Given the description of an element on the screen output the (x, y) to click on. 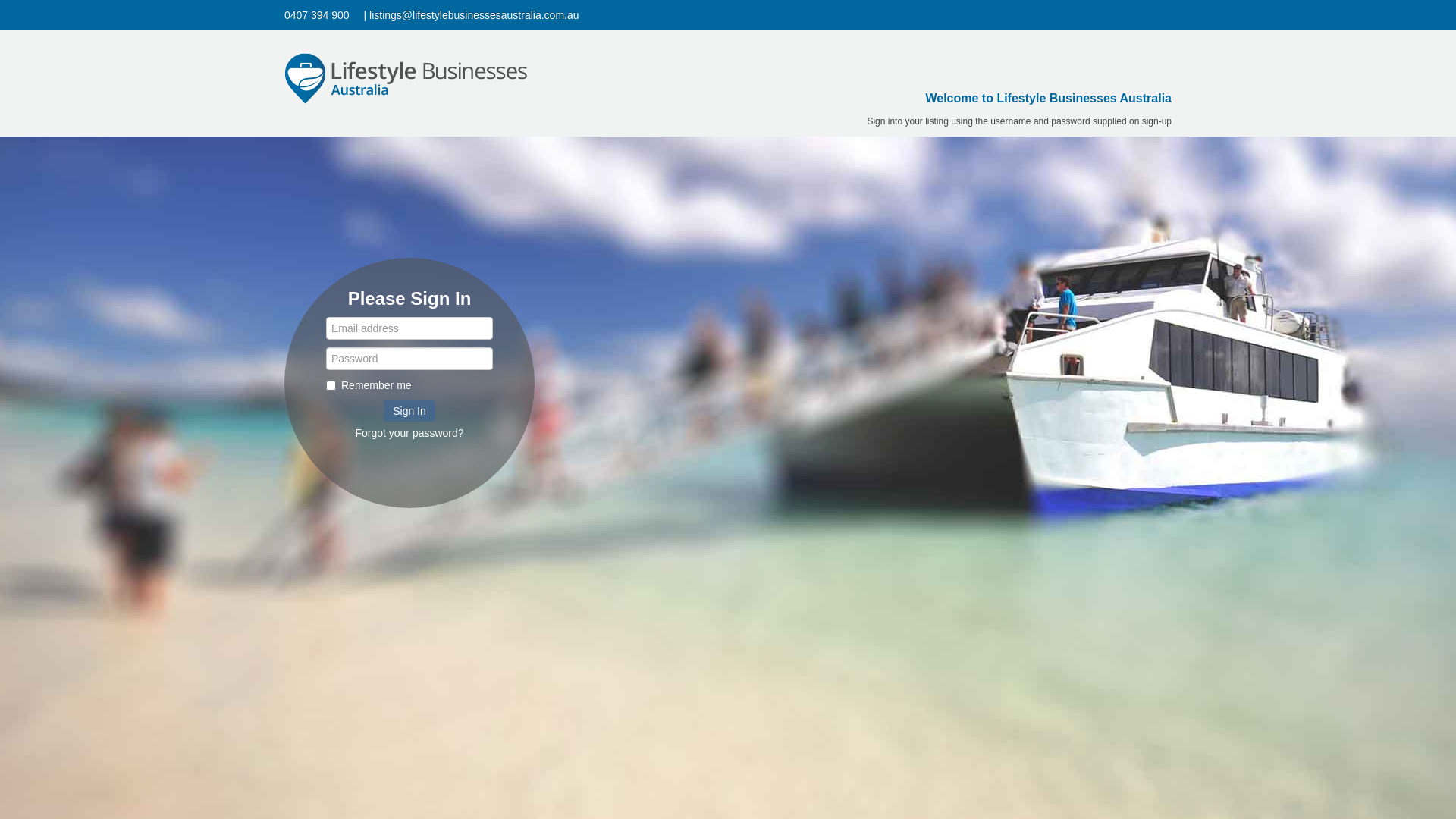
listings@lifestylebusinessesaustralia.com.au Element type: text (479, 14)
Sign In Element type: text (409, 410)
Lifestyle Businesses Australia Element type: hover (405, 72)
Forgot your password? Element type: text (409, 432)
0407 394 900 Element type: text (322, 14)
